Given the description of an element on the screen output the (x, y) to click on. 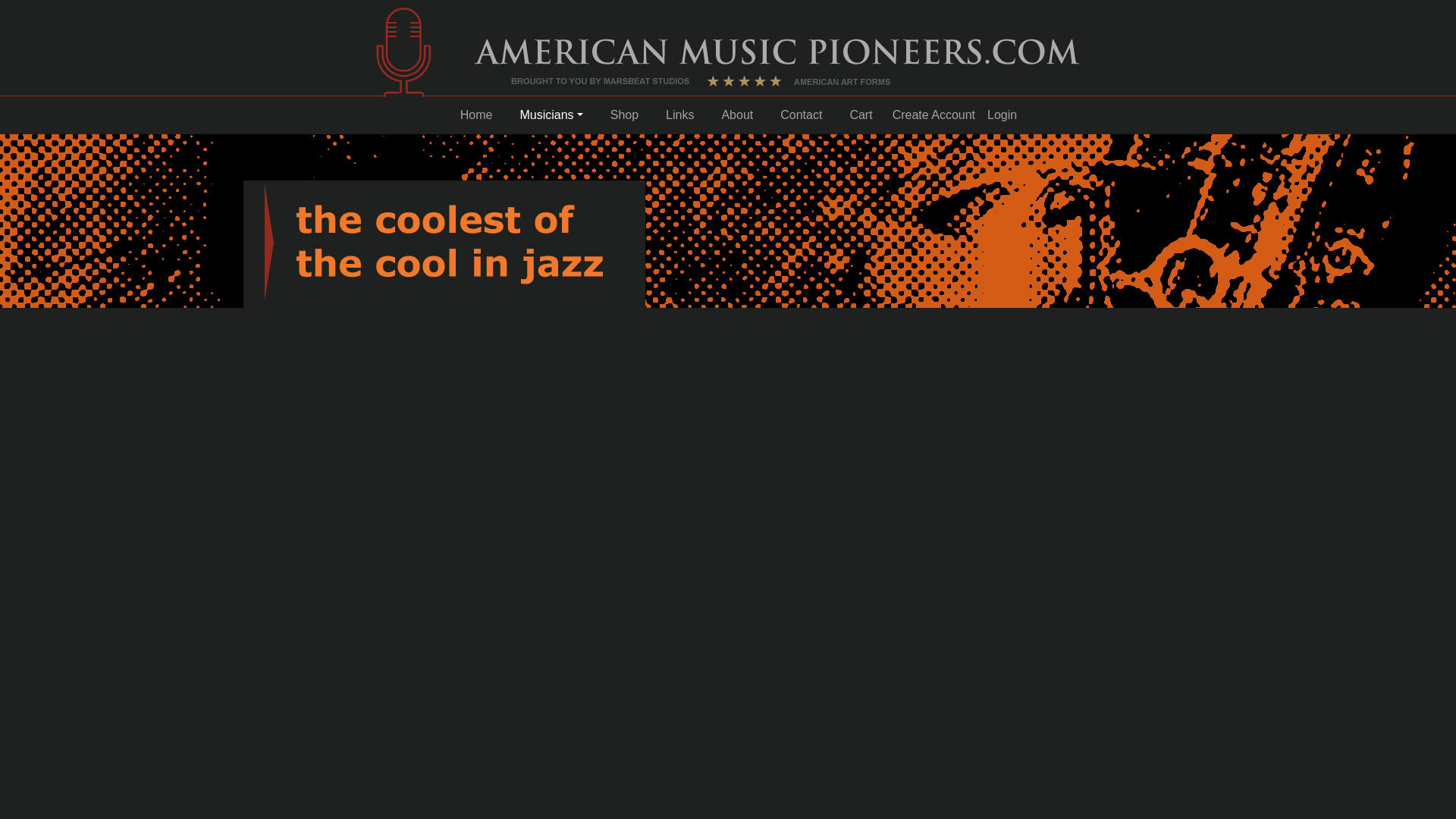
Create Account (933, 115)
Links (679, 115)
Musicians (550, 115)
Home (476, 115)
Cart (860, 115)
About (736, 115)
American Music Pioneers (402, 51)
Contact (801, 115)
Shop (624, 115)
American Music Pioneers (777, 62)
